Given the description of an element on the screen output the (x, y) to click on. 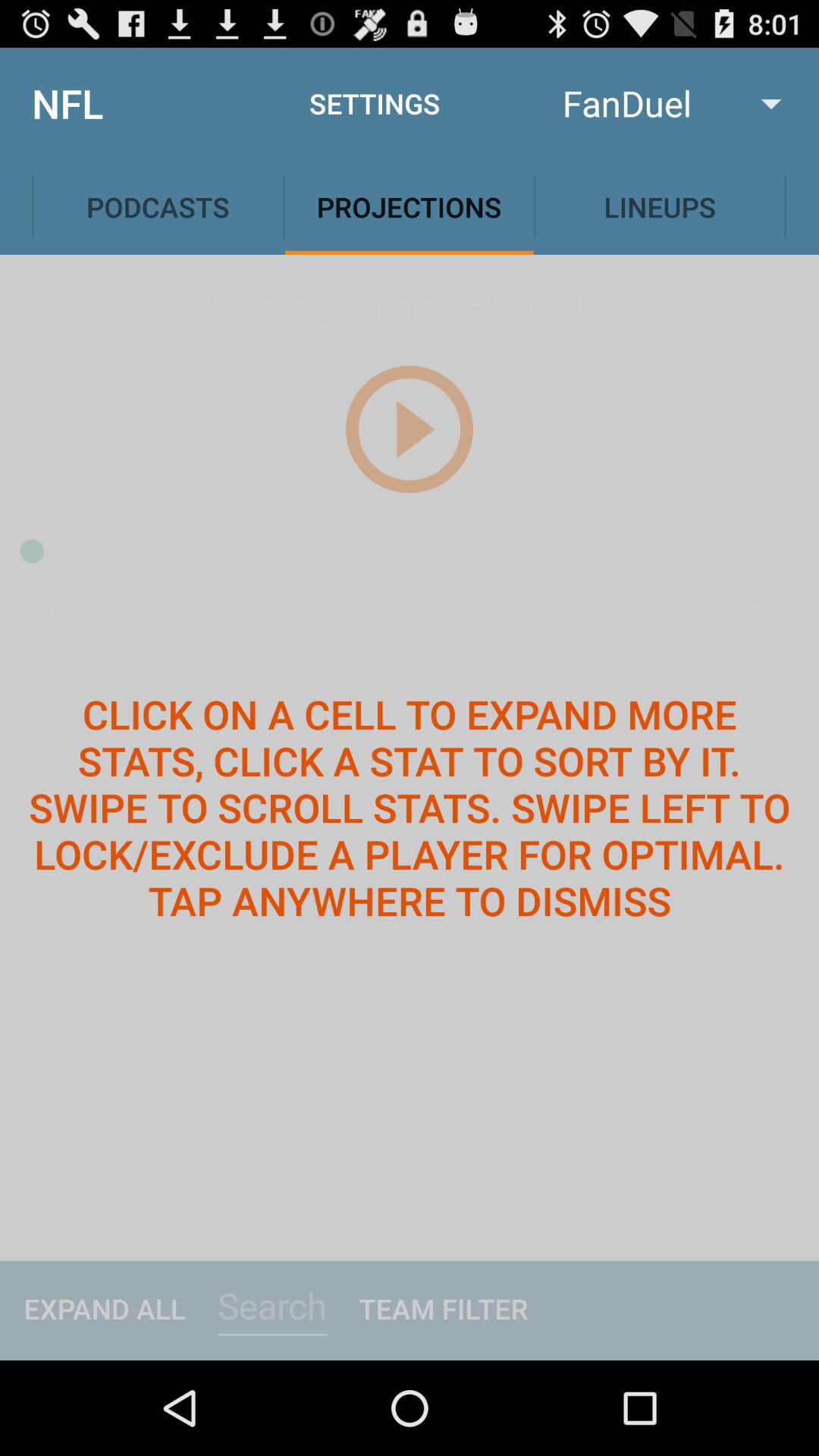
tap on podcasts (158, 206)
click on the play icon (409, 428)
click on the projections (409, 206)
click on search at the bottom (271, 1306)
